Given the description of an element on the screen output the (x, y) to click on. 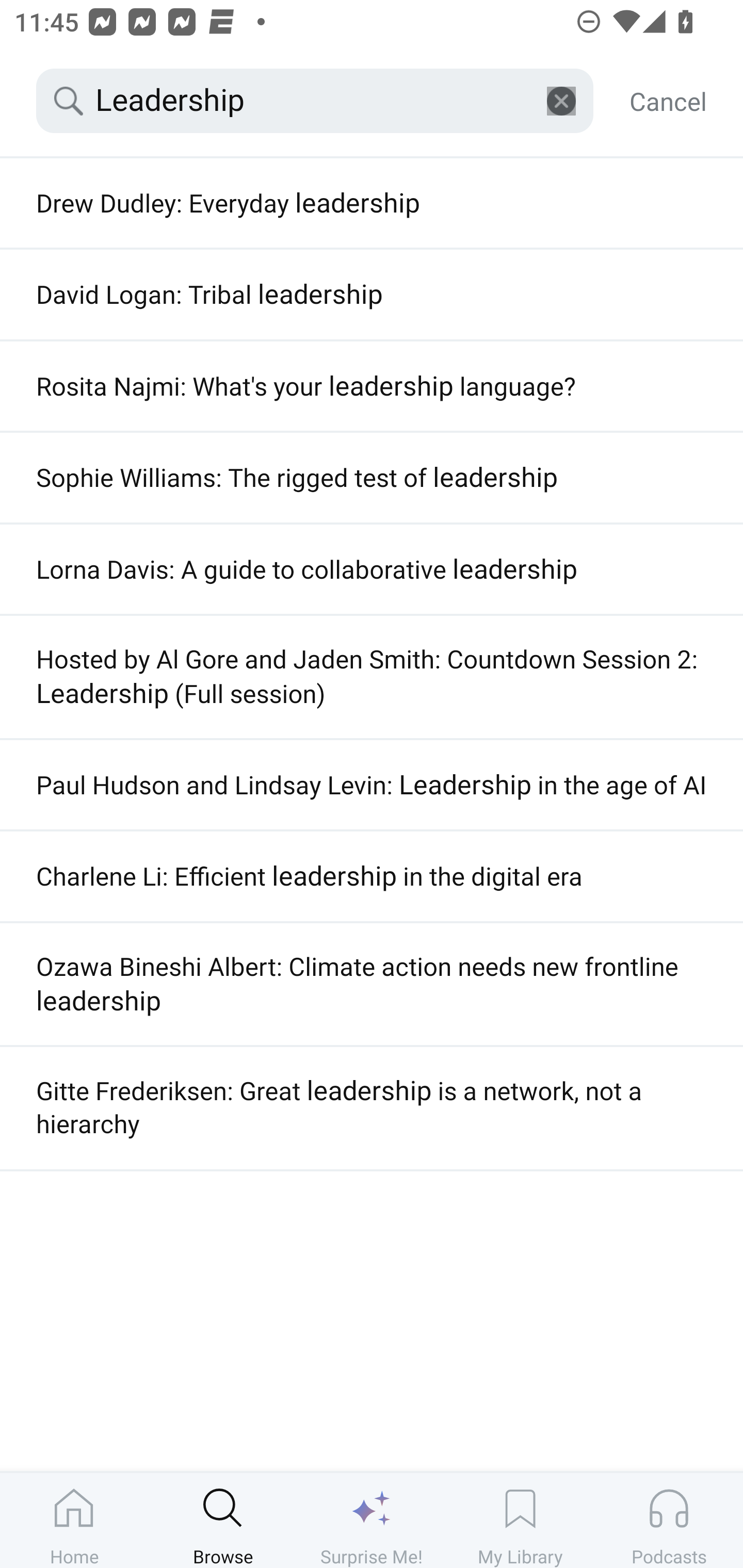
Leadership (314, 100)
Cancel (667, 100)
Drew Dudley: Everyday leadership (371, 202)
David Logan: Tribal leadership (371, 293)
Rosita Najmi: What's your leadership language? (371, 386)
Sophie Williams: The rigged test of leadership (371, 477)
Lorna Davis: A guide to collaborative leadership (371, 569)
Home (74, 1520)
Browse (222, 1520)
Surprise Me! (371, 1520)
My Library (519, 1520)
Podcasts (668, 1520)
